Given the description of an element on the screen output the (x, y) to click on. 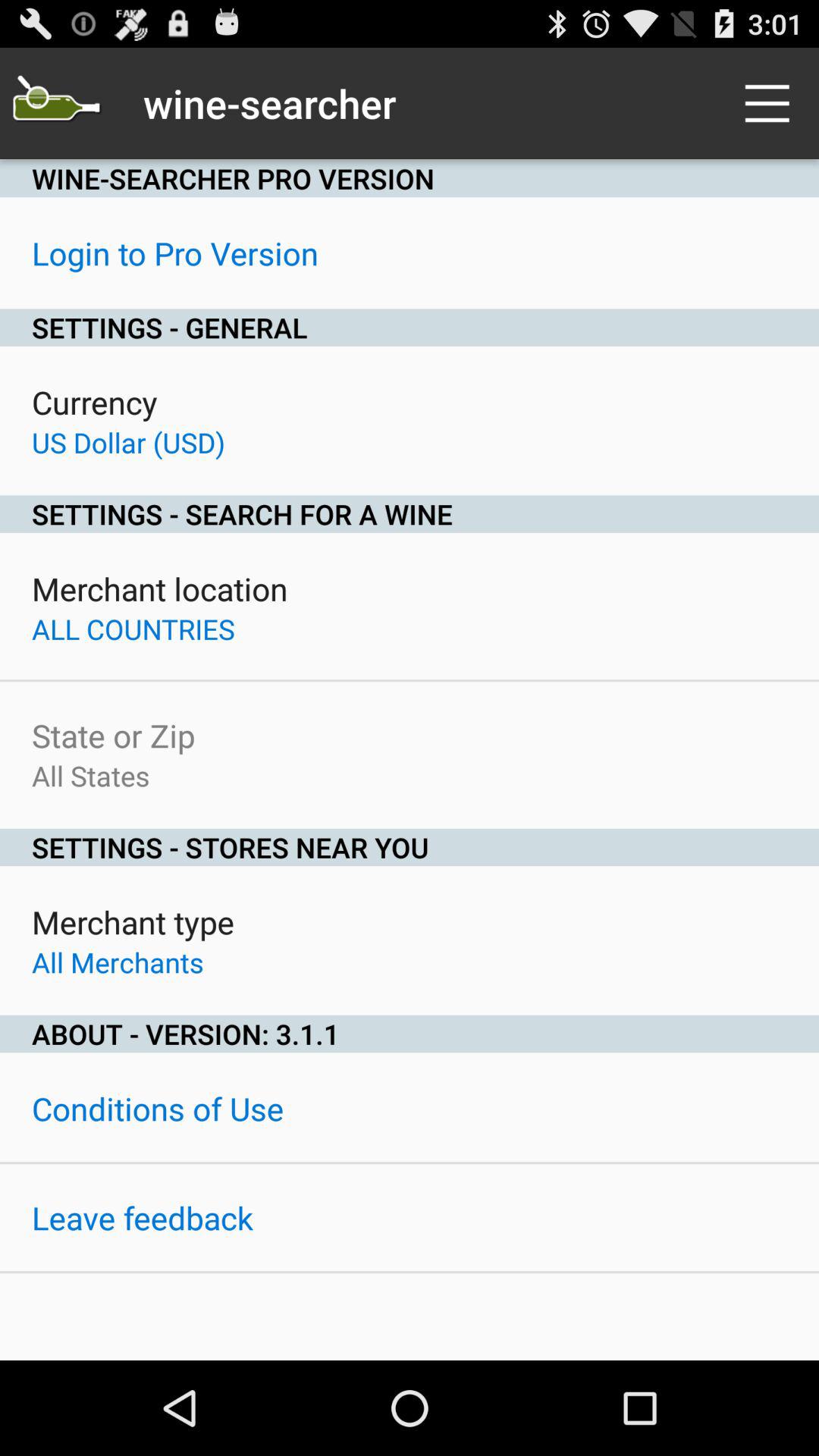
select icon below merchant type item (117, 962)
